Given the description of an element on the screen output the (x, y) to click on. 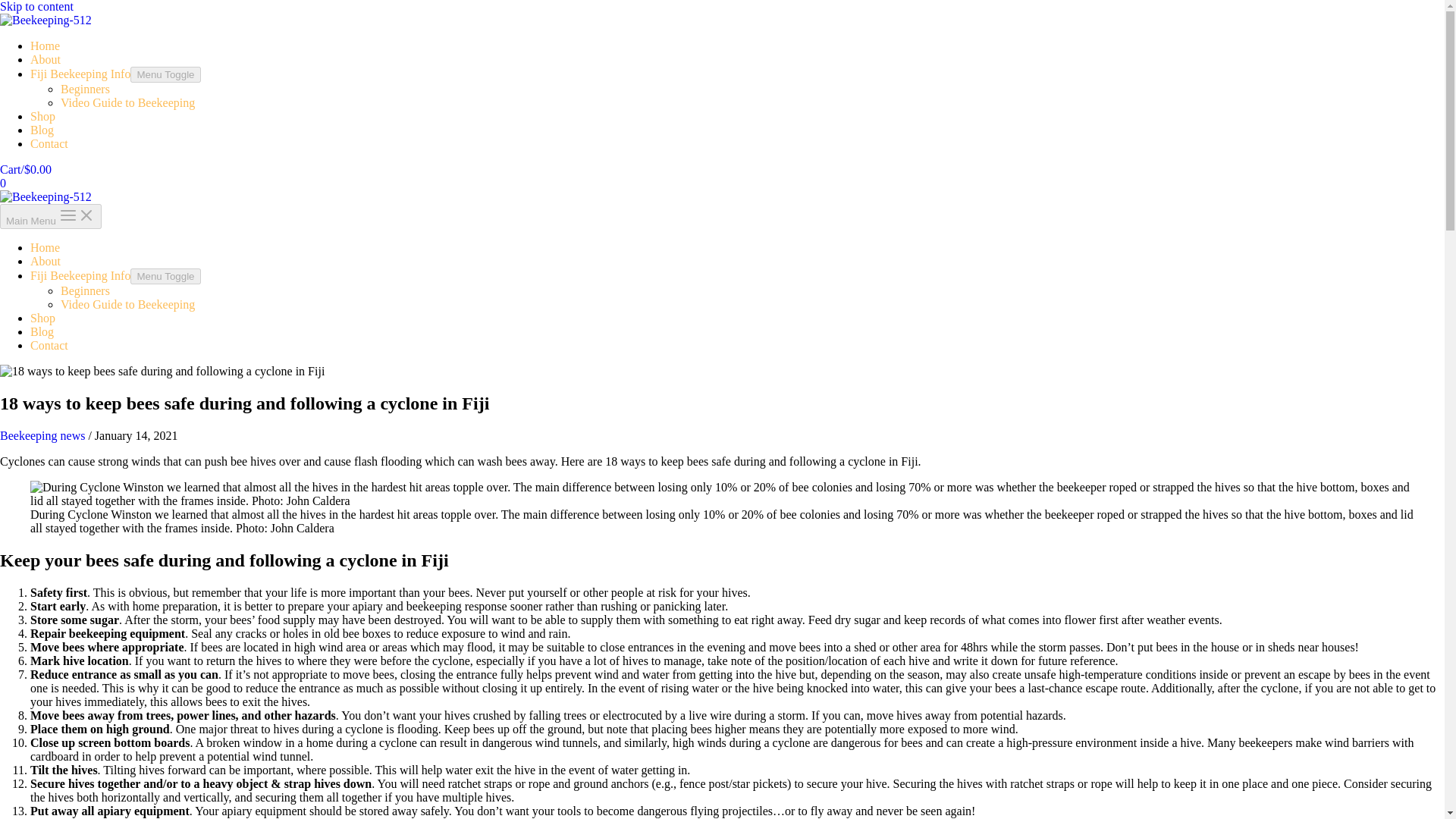
Fiji Beekeeping Info (80, 73)
Menu Toggle (165, 276)
Home (44, 246)
Beginners (85, 88)
Blog (41, 331)
Menu Toggle (165, 74)
Skip to content (37, 6)
Contact (49, 143)
Beginners (85, 290)
Beekeeping news (42, 435)
Skip to content (37, 6)
Blog (41, 129)
Shop (42, 115)
Main Menu (50, 216)
Shop (42, 318)
